Given the description of an element on the screen output the (x, y) to click on. 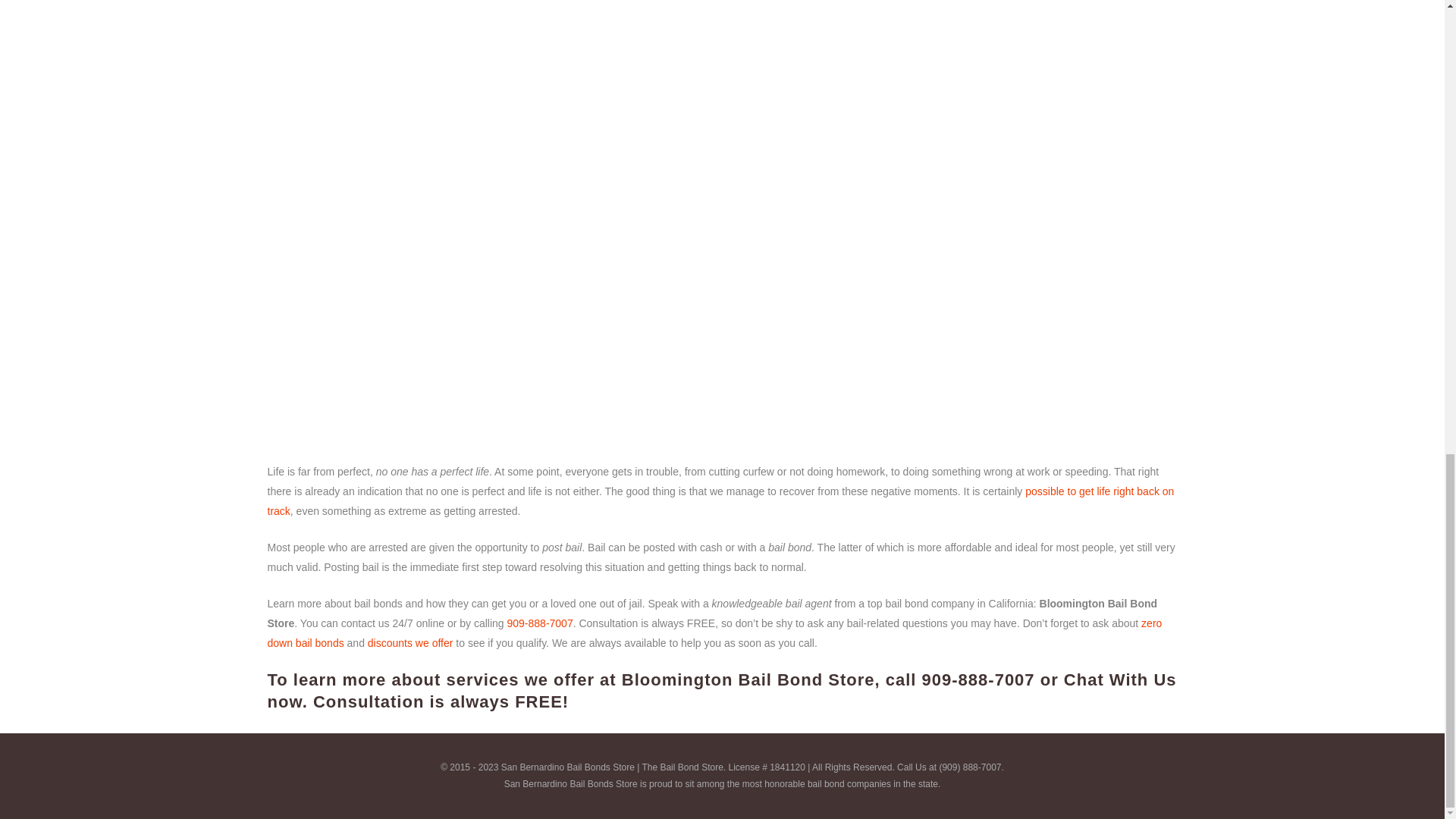
909-888-7007 (539, 623)
possible to get life right back on track (719, 500)
discounts we offer (410, 643)
zero down bail bonds (713, 633)
909-888-7007 (978, 679)
